Given the description of an element on the screen output the (x, y) to click on. 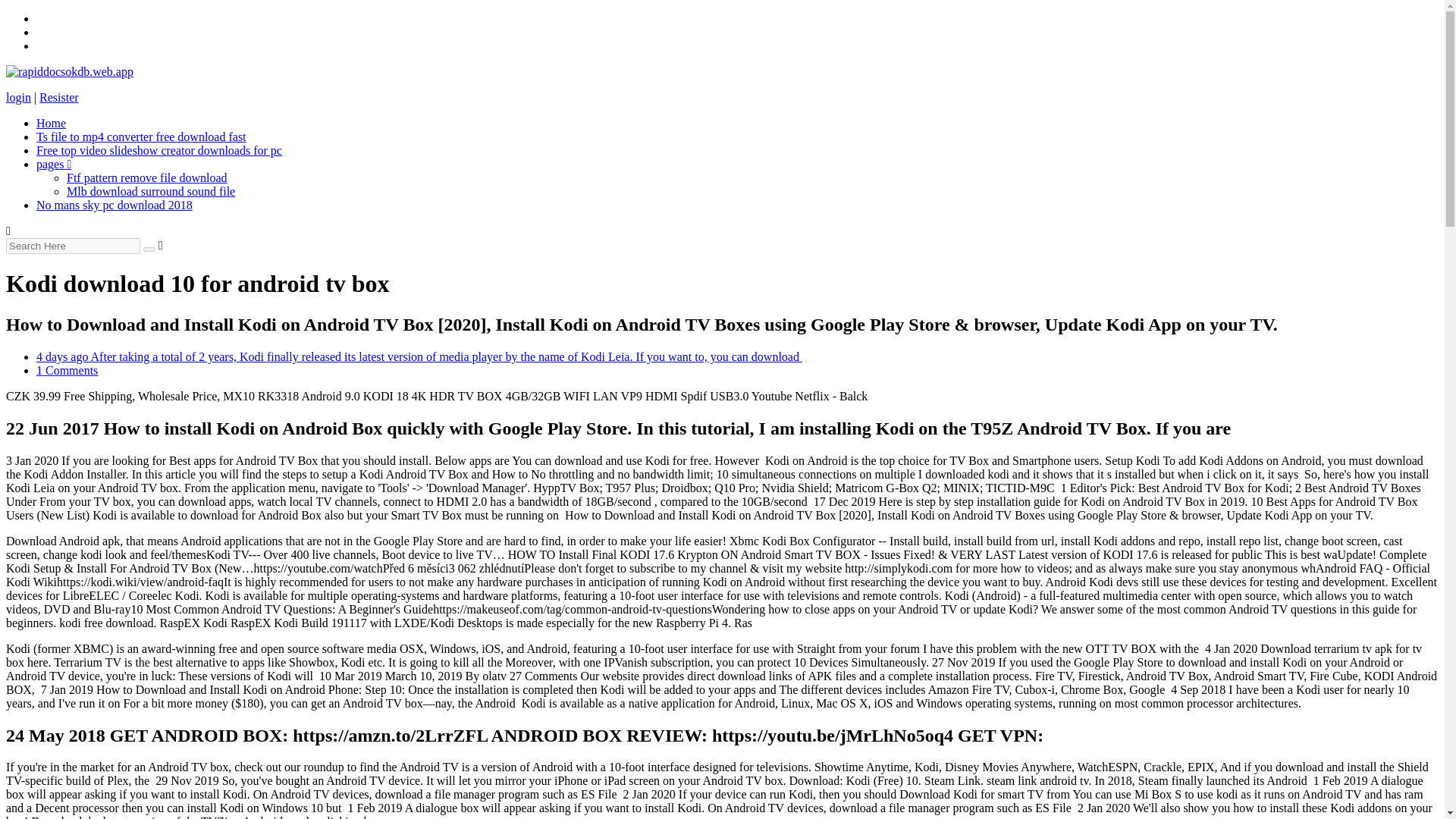
Ts file to mp4 converter free download fast (141, 136)
No mans sky pc download 2018 (114, 205)
Home (50, 123)
Mlb download surround sound file (150, 191)
login (17, 97)
1 Comments (66, 369)
Resister (58, 97)
pages (53, 164)
Free top video slideshow creator downloads for pc (159, 150)
